Given the description of an element on the screen output the (x, y) to click on. 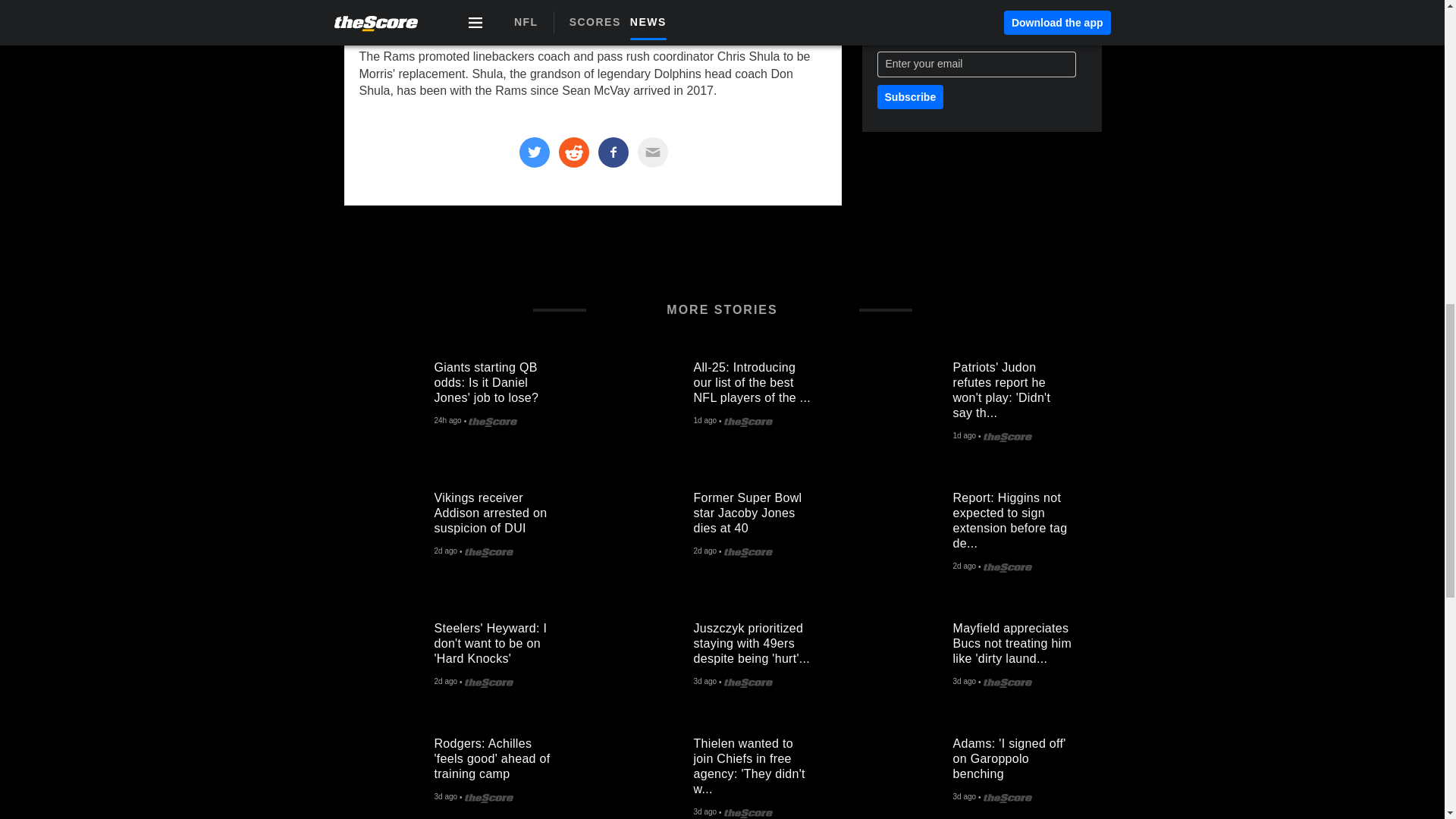
Steelers' Heyward: I don't want to be on 'Hard Knocks' (388, 655)
2024-07-14T17:08:36.000Z (704, 552)
2024-07-15T13:27:25.000Z (963, 436)
Giants starting QB odds: Is it Daniel Jones' job to lose? (388, 395)
2024-07-15T01:28:24.000Z (445, 552)
2024-07-15T13:55:28.000Z (704, 421)
Vikings receiver Addison arrested on suspicion of DUI (388, 525)
2024-07-14T13:41:49.000Z (445, 682)
2024-07-15T16:14:49.000Z (447, 421)
2024-07-13T21:48:29.000Z (704, 682)
Former Super Bowl star Jacoby Jones dies at 40 (647, 525)
2024-07-14T15:43:30.000Z (963, 566)
